Given the description of an element on the screen output the (x, y) to click on. 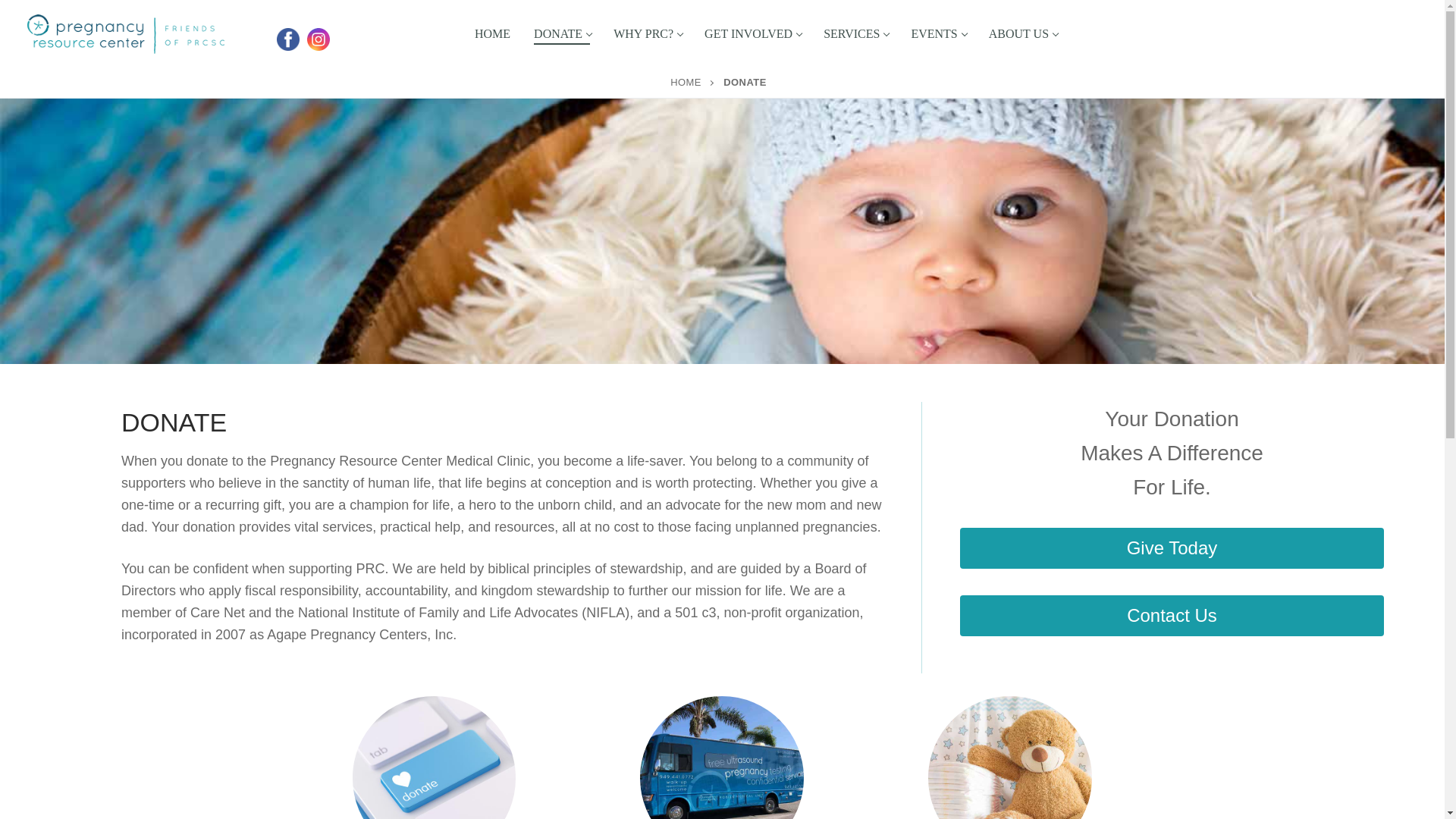
HOME (561, 33)
HOME (937, 33)
Contact Us (685, 81)
Give Today (751, 33)
